Given the description of an element on the screen output the (x, y) to click on. 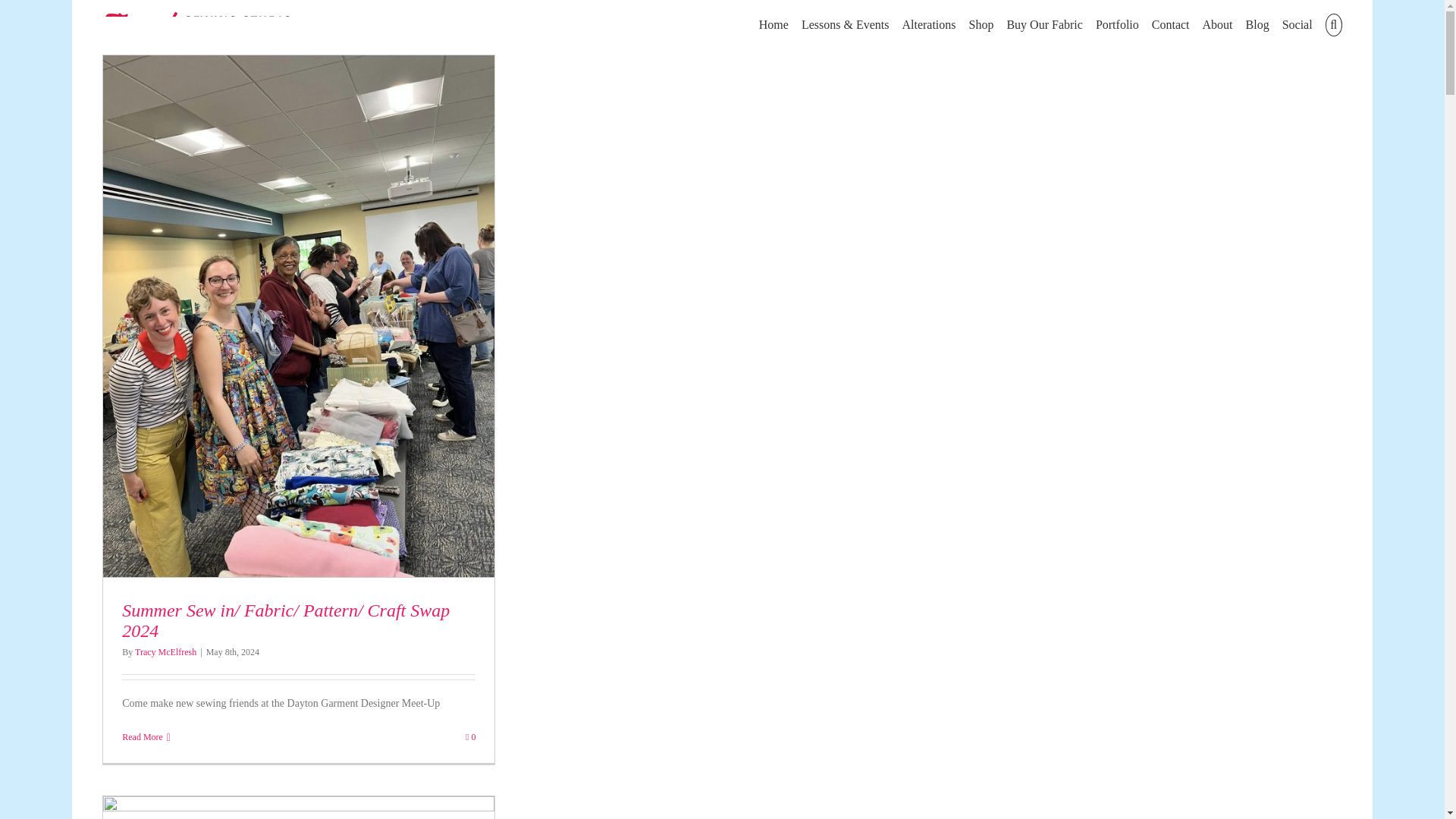
Alterations (928, 23)
Portfolio (1117, 23)
Buy Our Fabric (1043, 23)
Posts by Tracy McElfresh (165, 652)
